Given the description of an element on the screen output the (x, y) to click on. 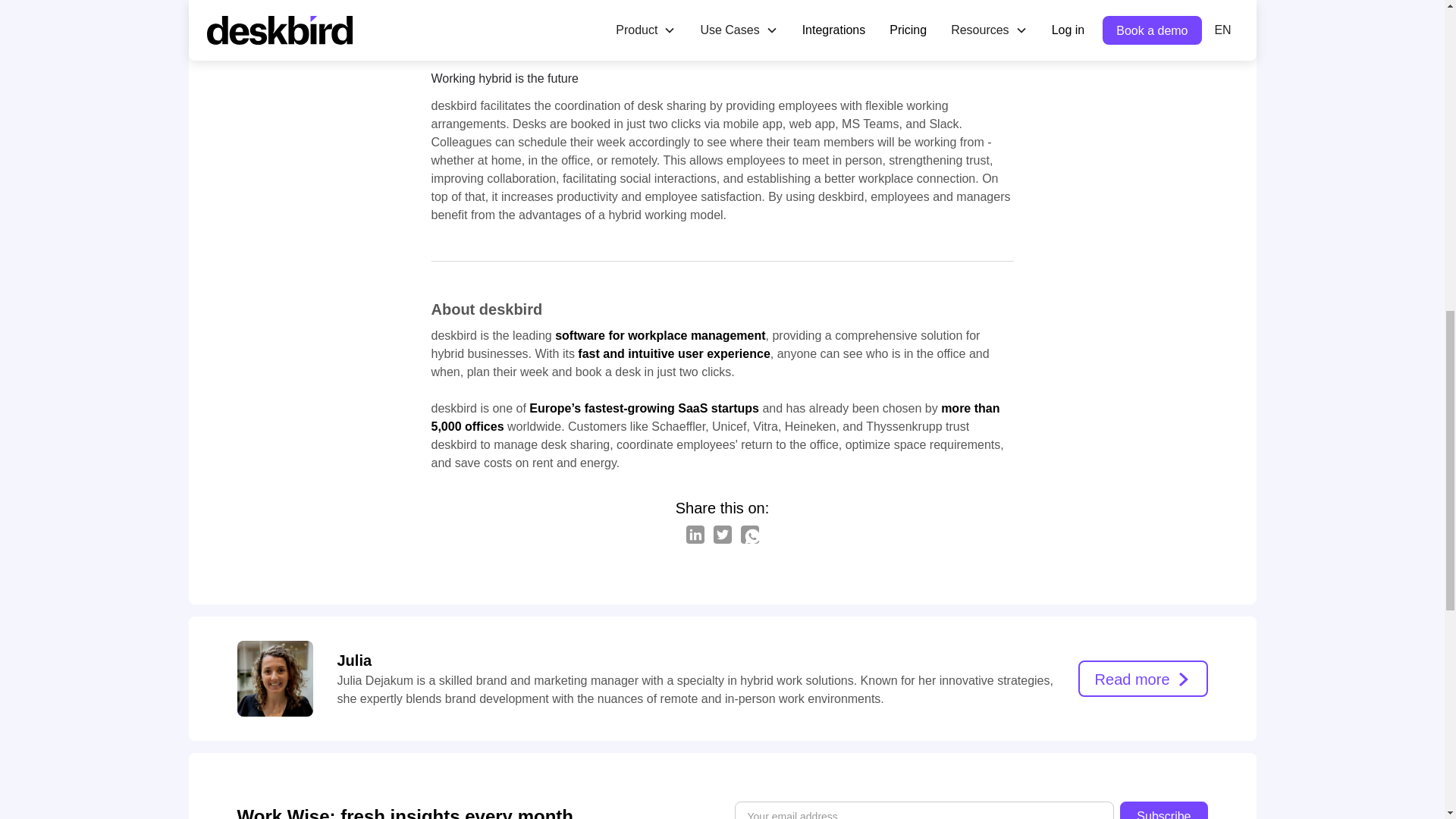
Subscribe (1163, 810)
